Given the description of an element on the screen output the (x, y) to click on. 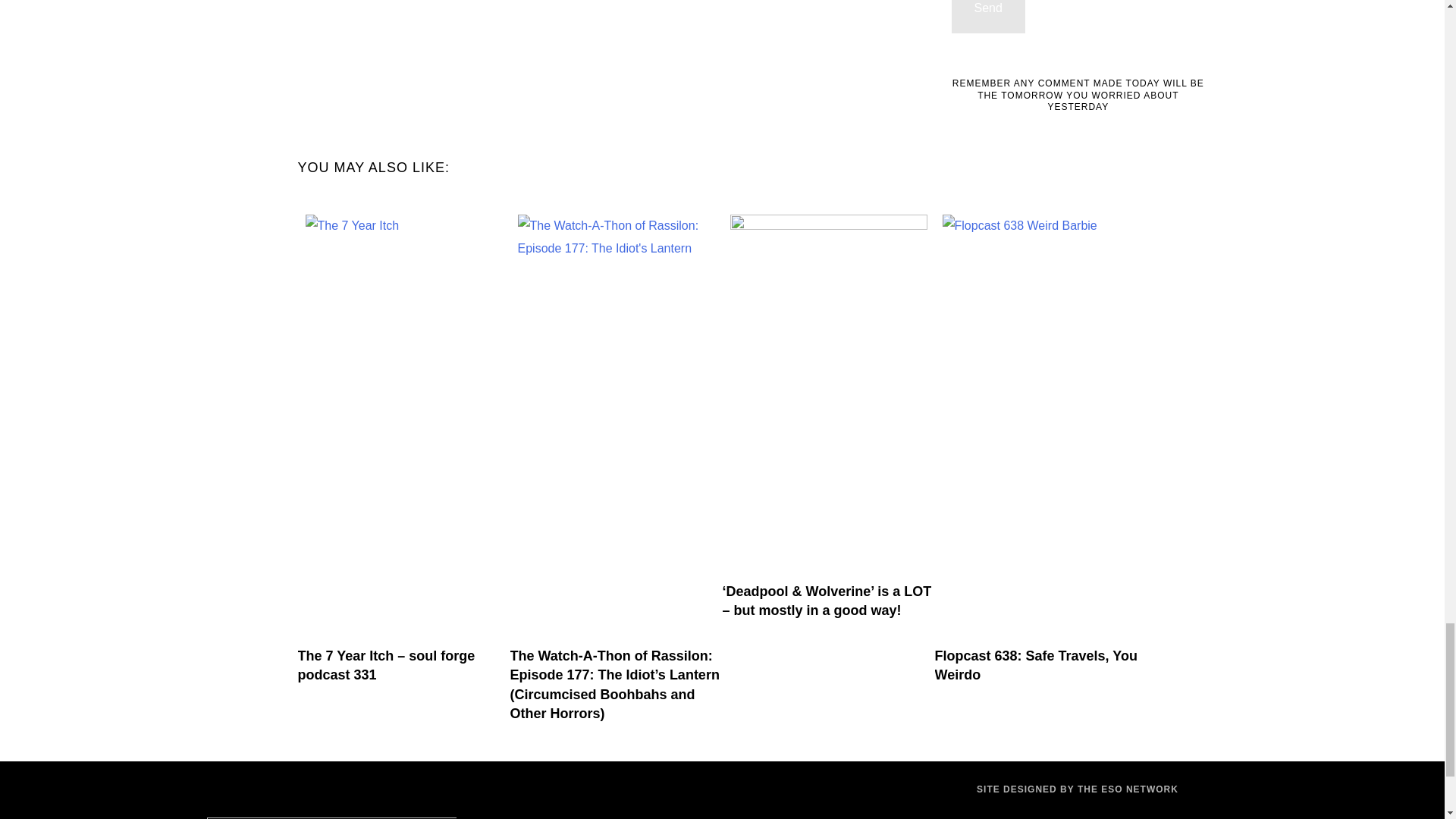
Send (988, 16)
